Given the description of an element on the screen output the (x, y) to click on. 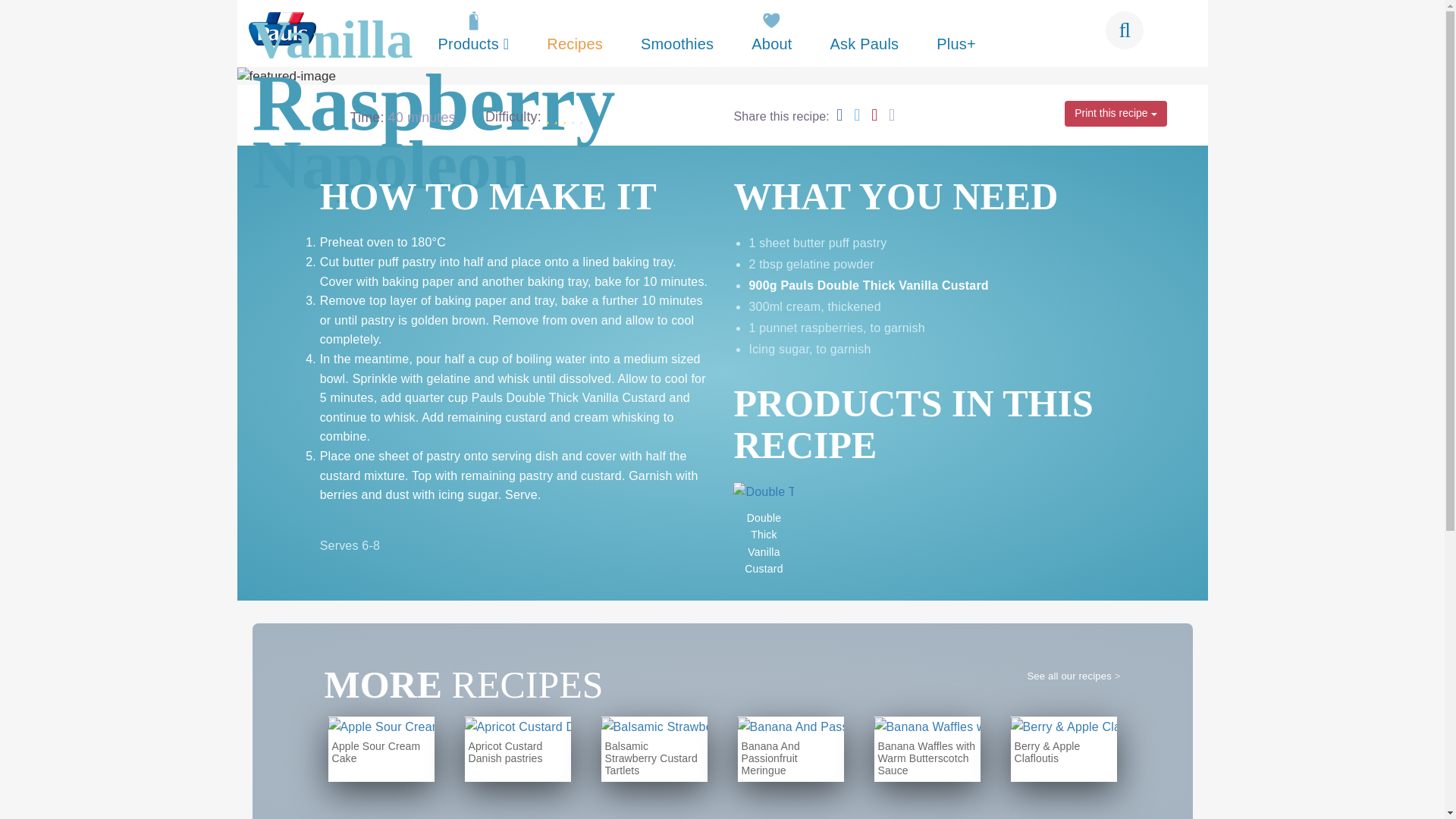
Products (473, 38)
Smoothies (676, 38)
Banana Waffles with Warm Butterscotch Sauce (926, 749)
Balsamic Strawberry Custard Tartlets (652, 749)
Ask Pauls (864, 38)
Recipes (574, 38)
Banana And Passionfruit Meringue (789, 749)
Print this recipe (1115, 113)
Apricot Custard Danish pastries (517, 749)
Apple Sour Cream Cake (380, 749)
